Given the description of an element on the screen output the (x, y) to click on. 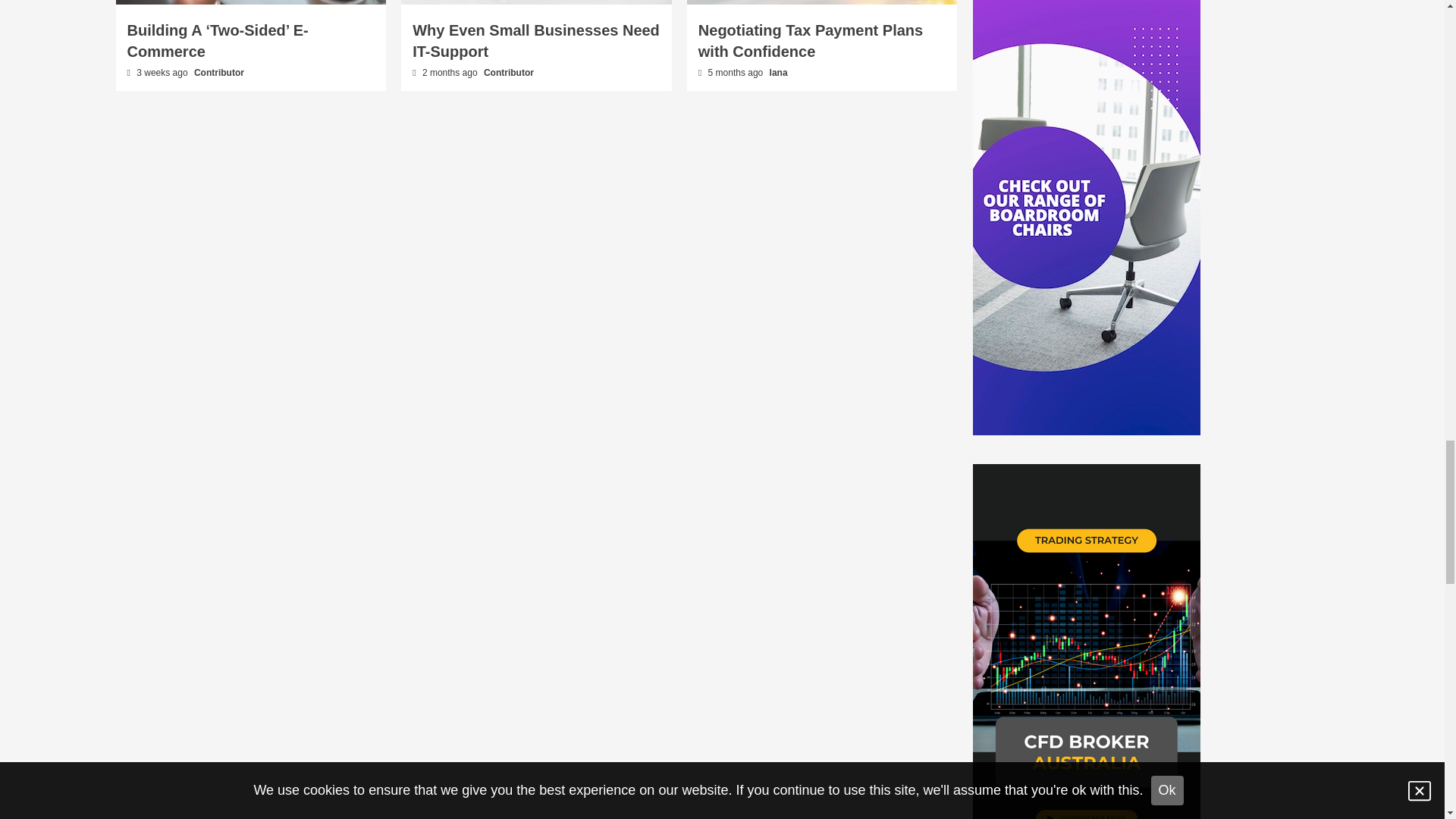
Negotiating Tax Payment Plans with Confidence (810, 40)
Contributor (508, 72)
Why Even Small Businesses Need IT-Support (535, 40)
Contributor (218, 72)
lana (778, 72)
